Given the description of an element on the screen output the (x, y) to click on. 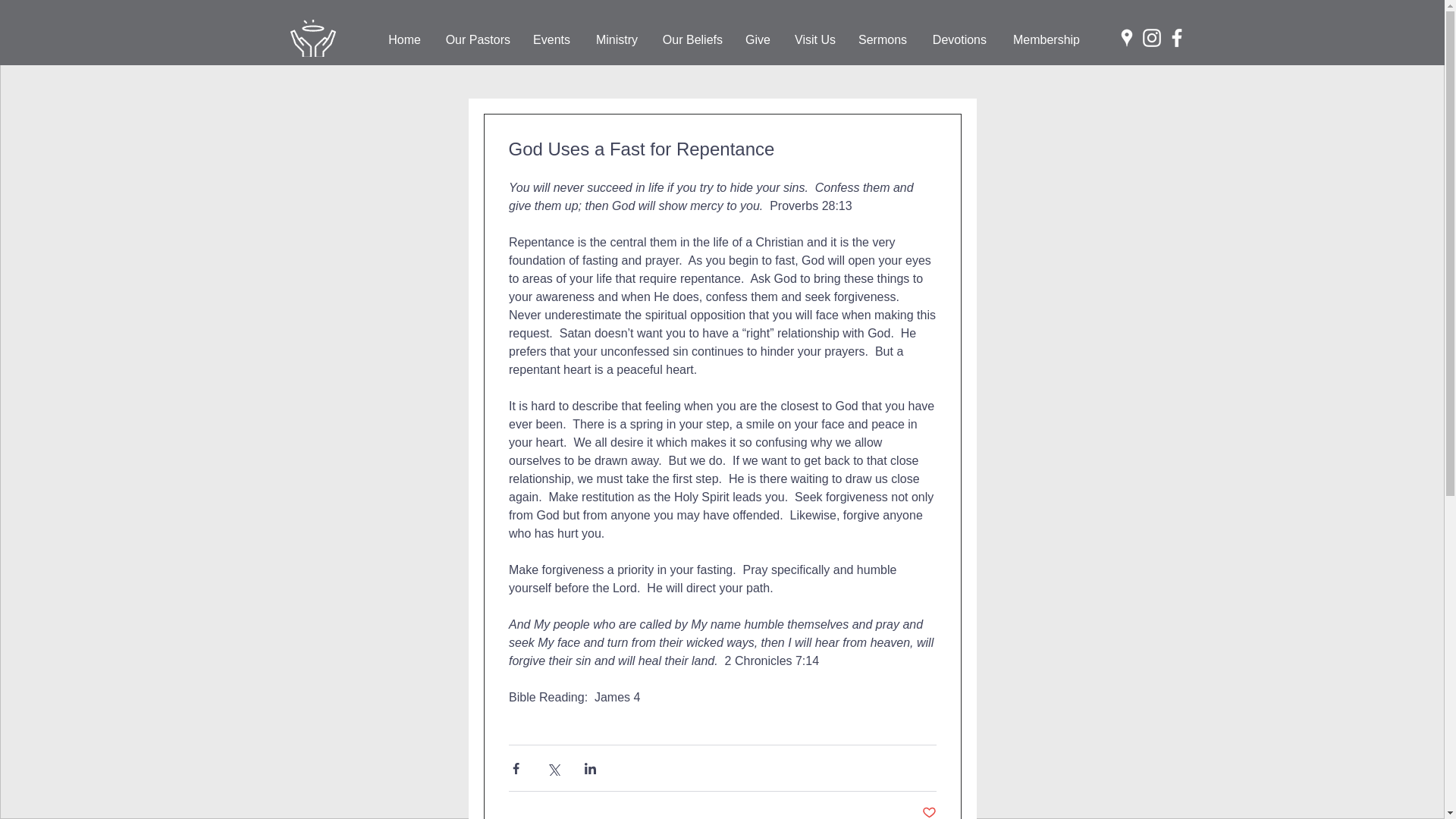
Membership (1043, 40)
Give (757, 40)
Our Beliefs (691, 40)
Ministry (614, 40)
Sermons (882, 40)
Post not marked as liked (928, 812)
Our Pastors (476, 40)
Devotions (957, 40)
Visit Us (814, 40)
Events (550, 40)
Home (403, 40)
